Given the description of an element on the screen output the (x, y) to click on. 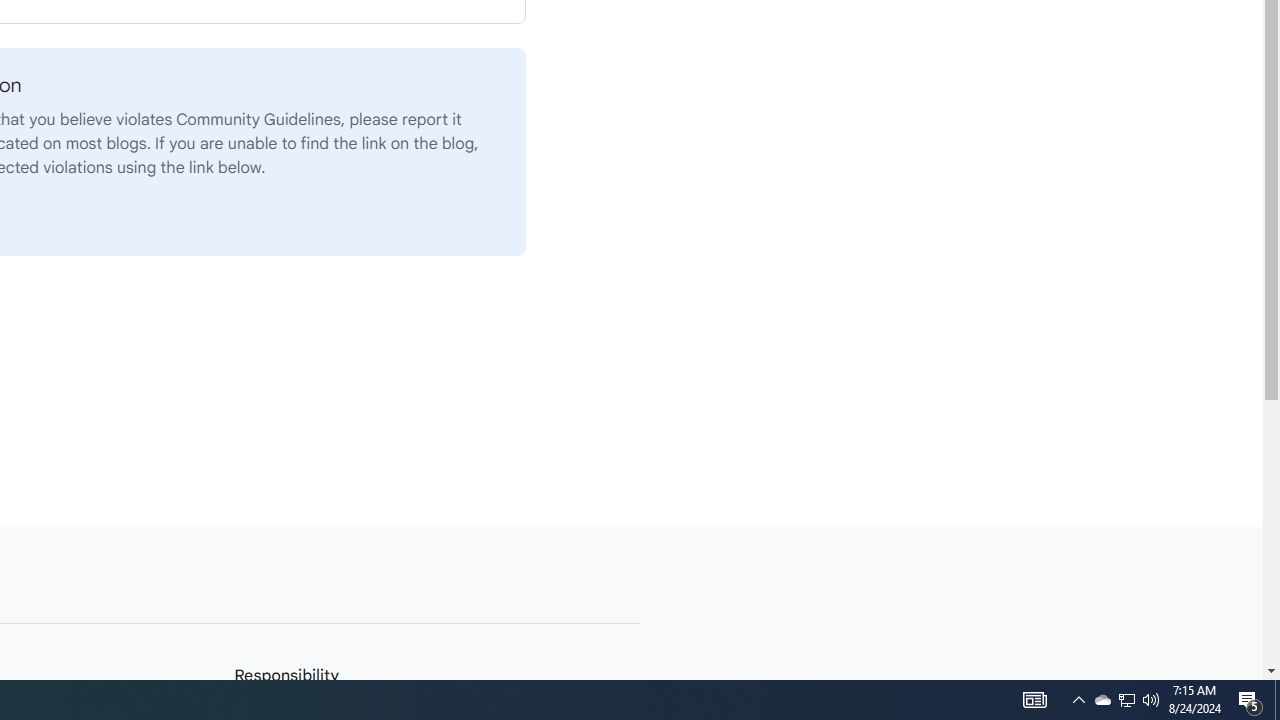
Notification Chevron (1078, 699)
Q2790: 100% (1126, 699)
User Promoted Notification Area (1151, 699)
Action Center, 5 new notifications (1126, 699)
AutomationID: 4105 (1102, 699)
Show desktop (1250, 699)
